Given the description of an element on the screen output the (x, y) to click on. 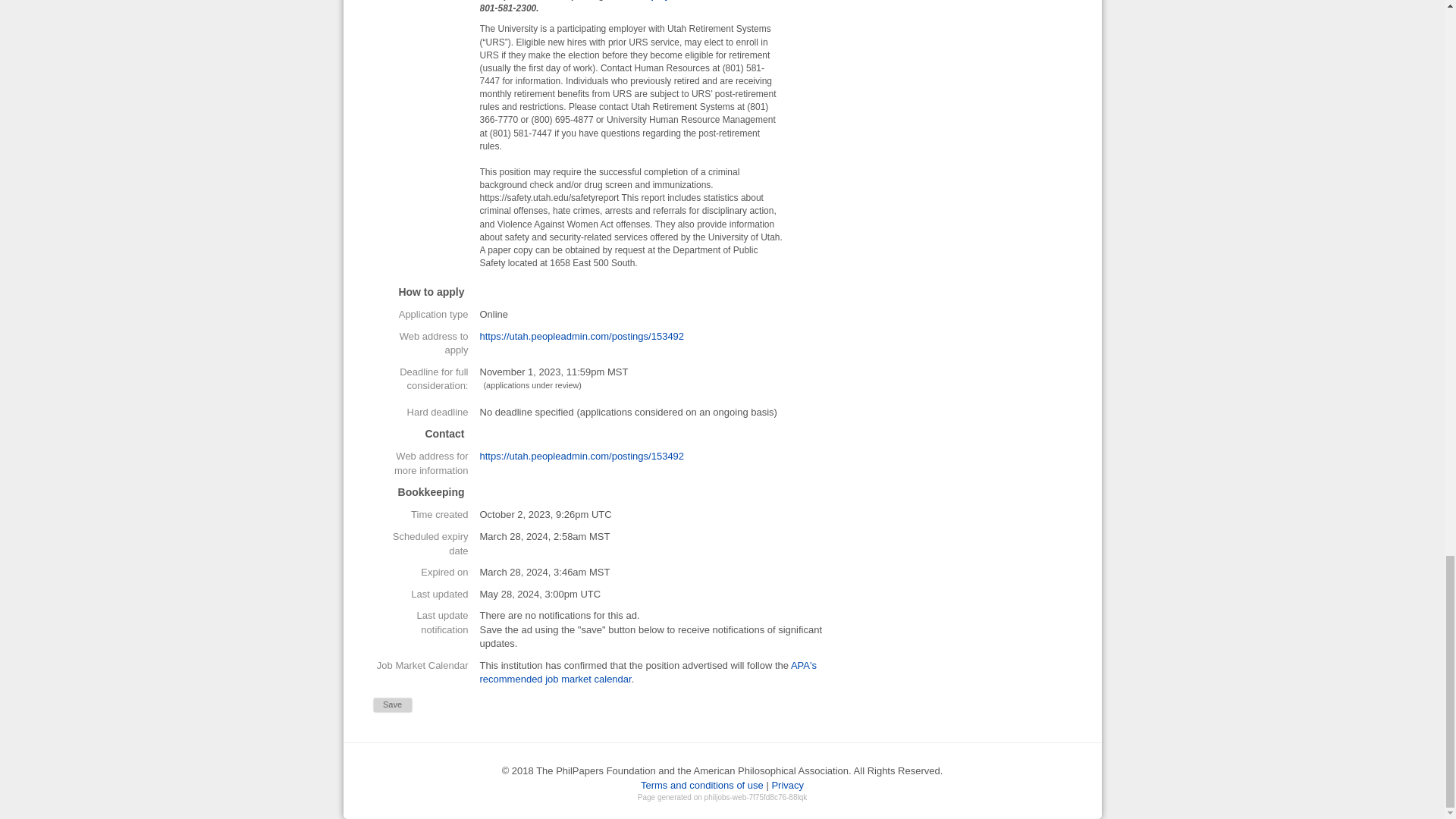
Save (391, 704)
Terms and conditions of use (701, 785)
Privacy (787, 785)
APA's recommended job market calendar (647, 672)
